Given the description of an element on the screen output the (x, y) to click on. 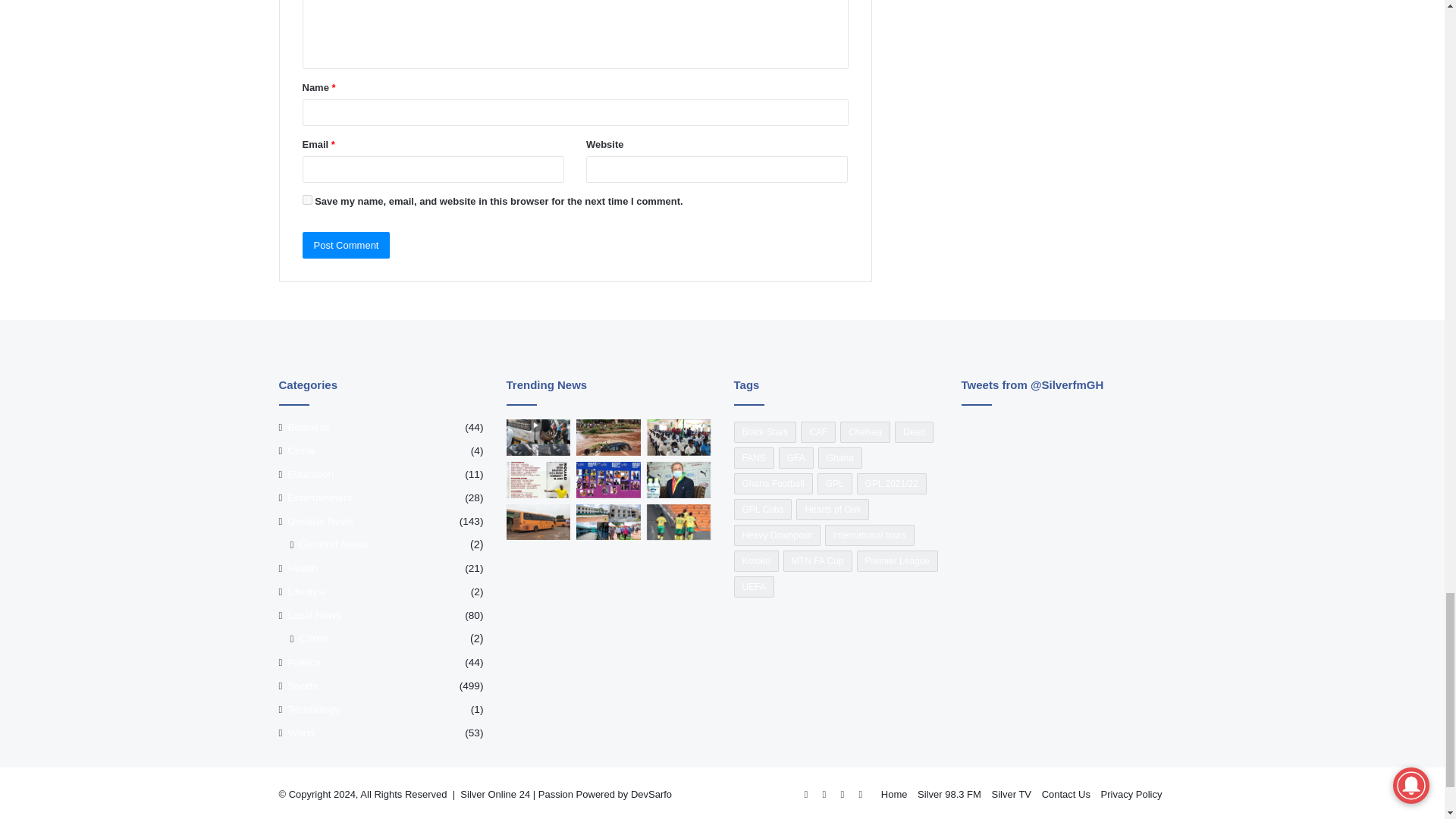
Post Comment (345, 244)
yes (306, 199)
